Given the description of an element on the screen output the (x, y) to click on. 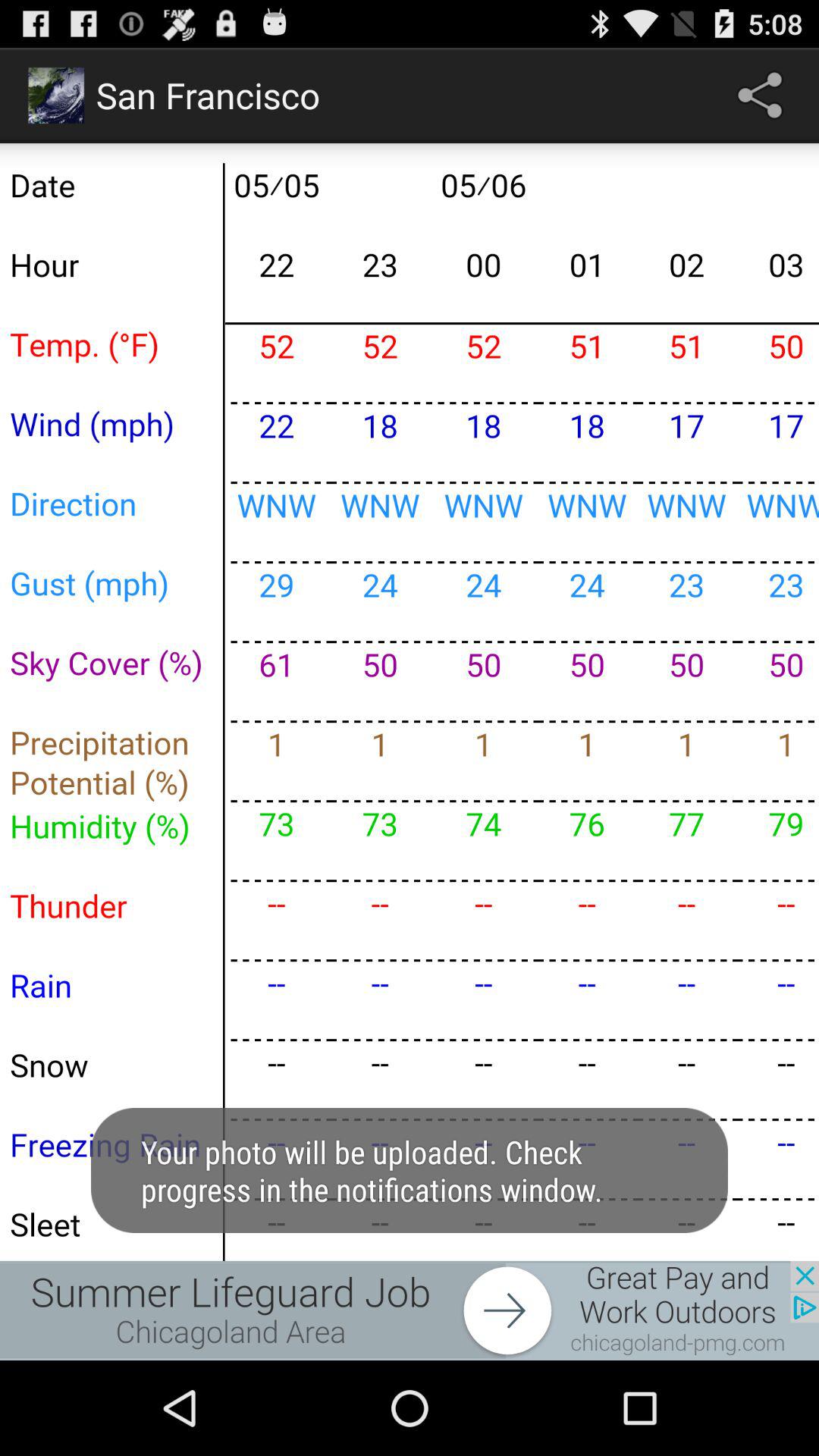
go to this site (409, 1310)
